Given the description of an element on the screen output the (x, y) to click on. 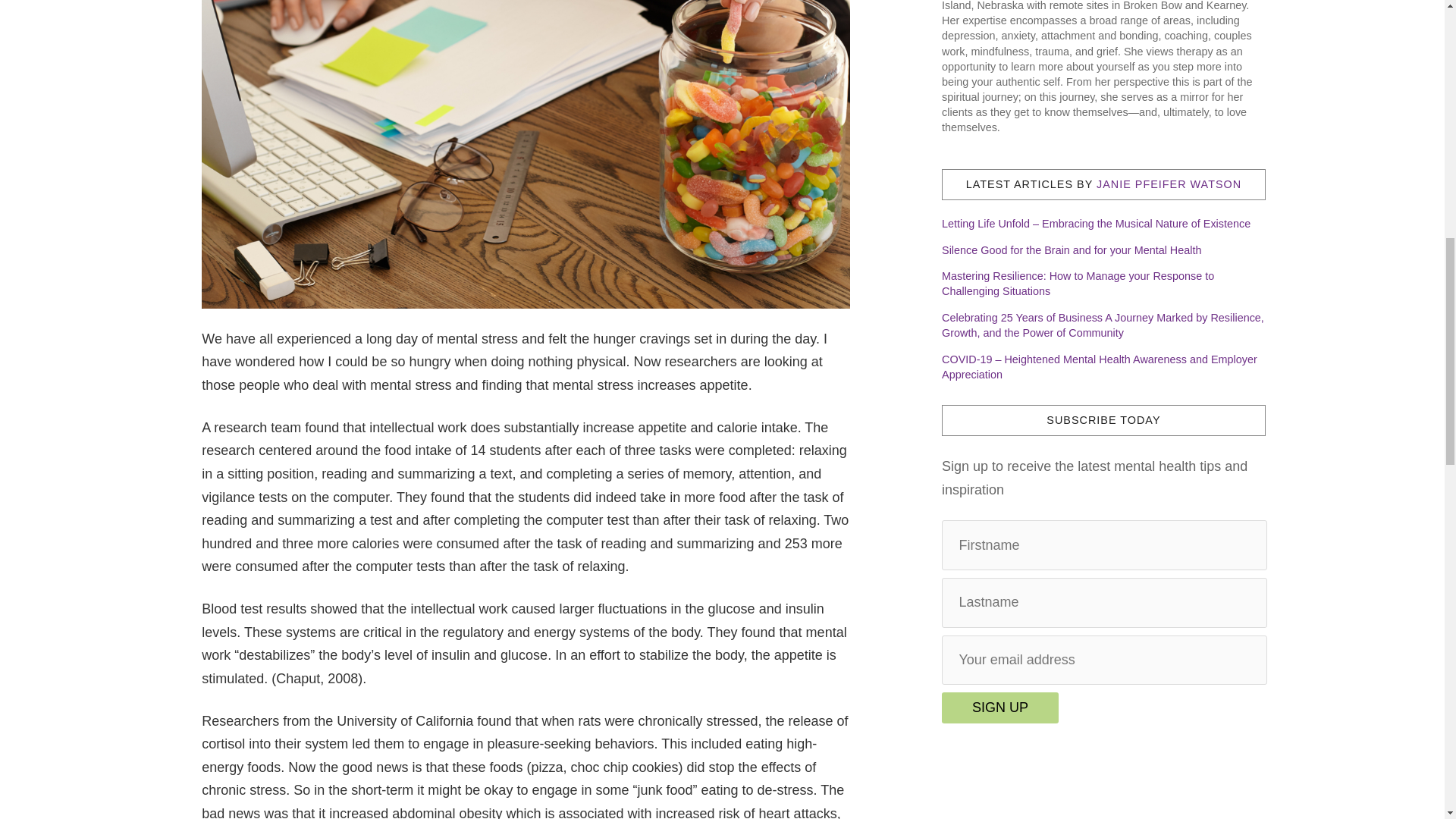
Posts by Janie Pfeifer Watson (1168, 184)
SIGN UP (1000, 707)
